Given the description of an element on the screen output the (x, y) to click on. 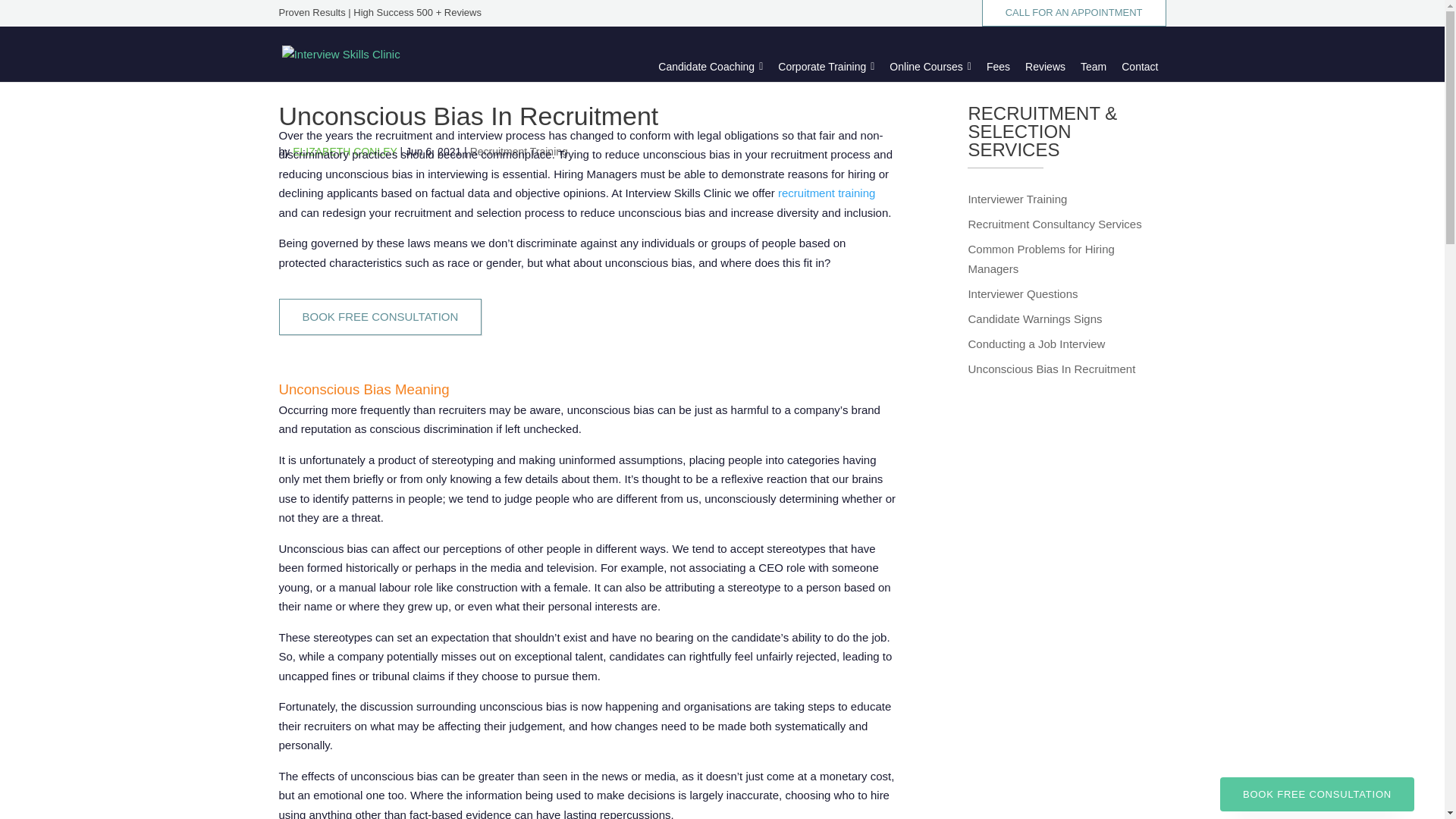
ELIZABETH CONLEY (344, 151)
Interviewer Training (1017, 198)
Common Problems for Hiring Managers (1040, 258)
Unconscious Bias In Recruitment (1051, 368)
Recruitment Consultancy Services (1054, 223)
Conducting a Job Interview (1036, 342)
Posts by Elizabeth Conley (344, 151)
CALL FOR AN APPOINTMENT (1073, 13)
Contact (1139, 66)
Candidate Coaching (710, 66)
Team (1093, 66)
Interviewer Questions (1022, 292)
recruitment training (826, 192)
Corporate Training (826, 66)
Fees (997, 66)
